Given the description of an element on the screen output the (x, y) to click on. 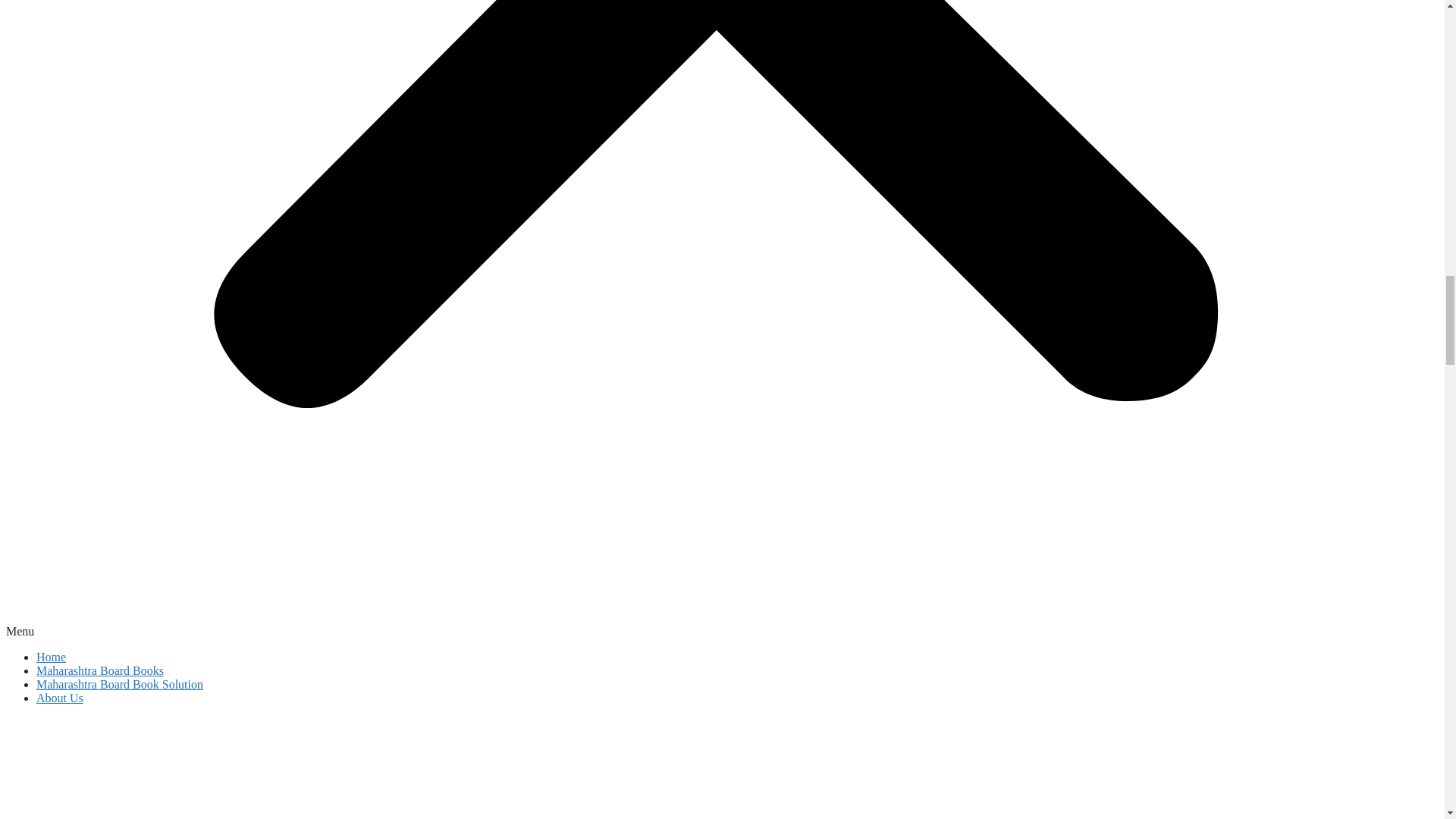
Home (50, 656)
Maharashtra Board Book Solution (119, 684)
About Us (59, 697)
Maharashtra Board Books (99, 670)
